Given the description of an element on the screen output the (x, y) to click on. 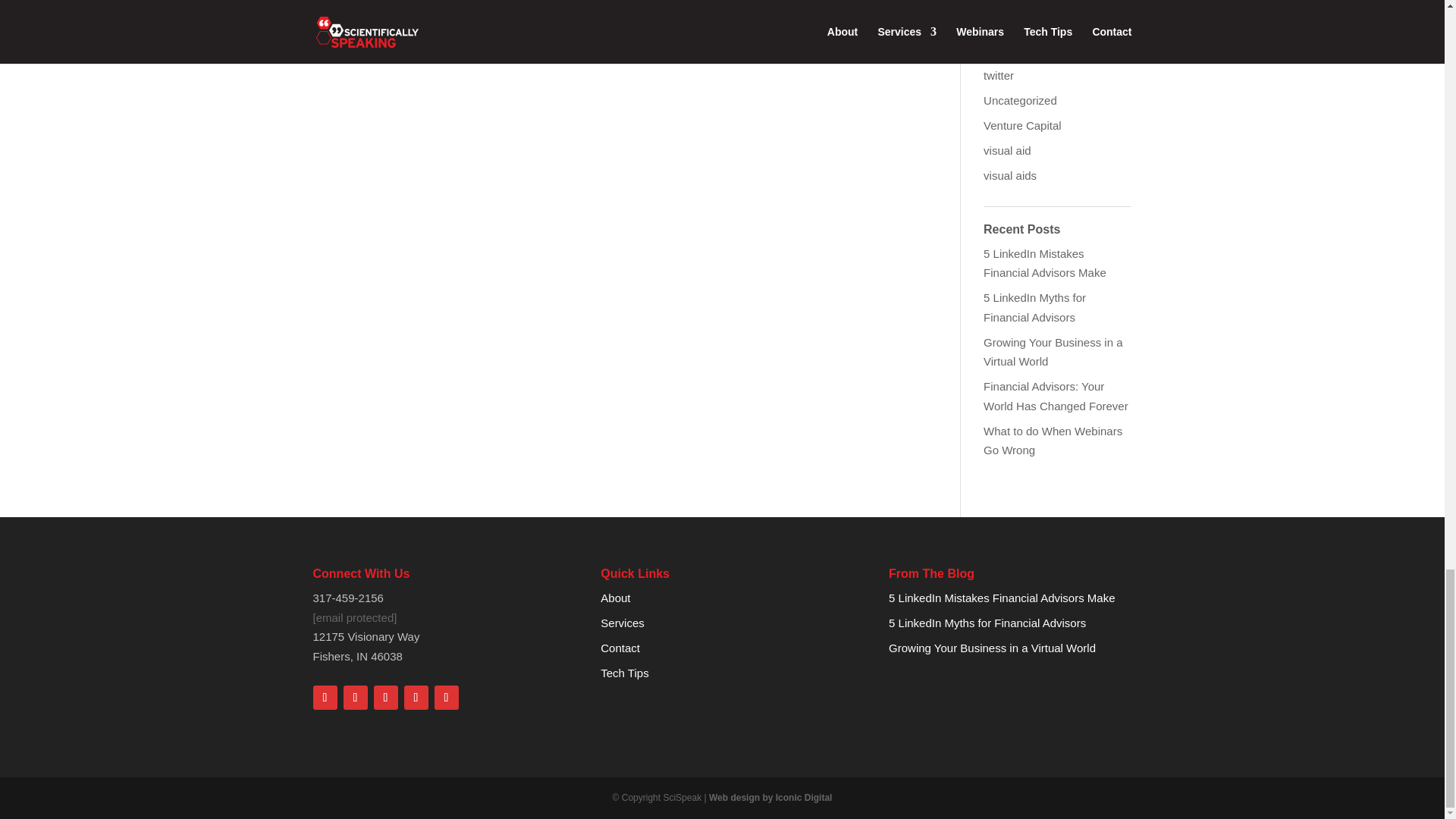
Twitter (354, 697)
Youtube (445, 697)
LinkedIn (384, 697)
facebook (324, 697)
